Given the description of an element on the screen output the (x, y) to click on. 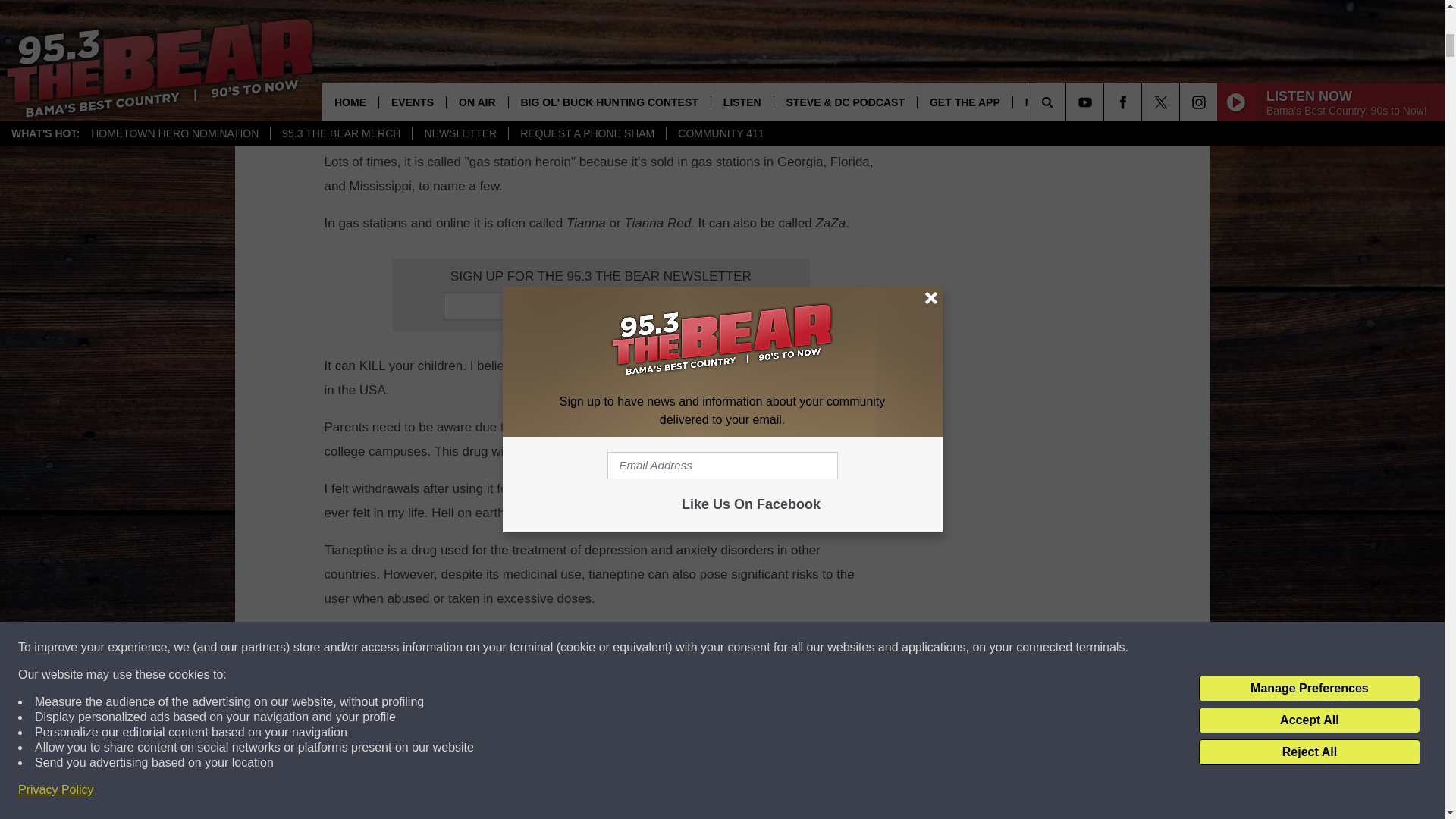
Email Address (600, 306)
